Given the description of an element on the screen output the (x, y) to click on. 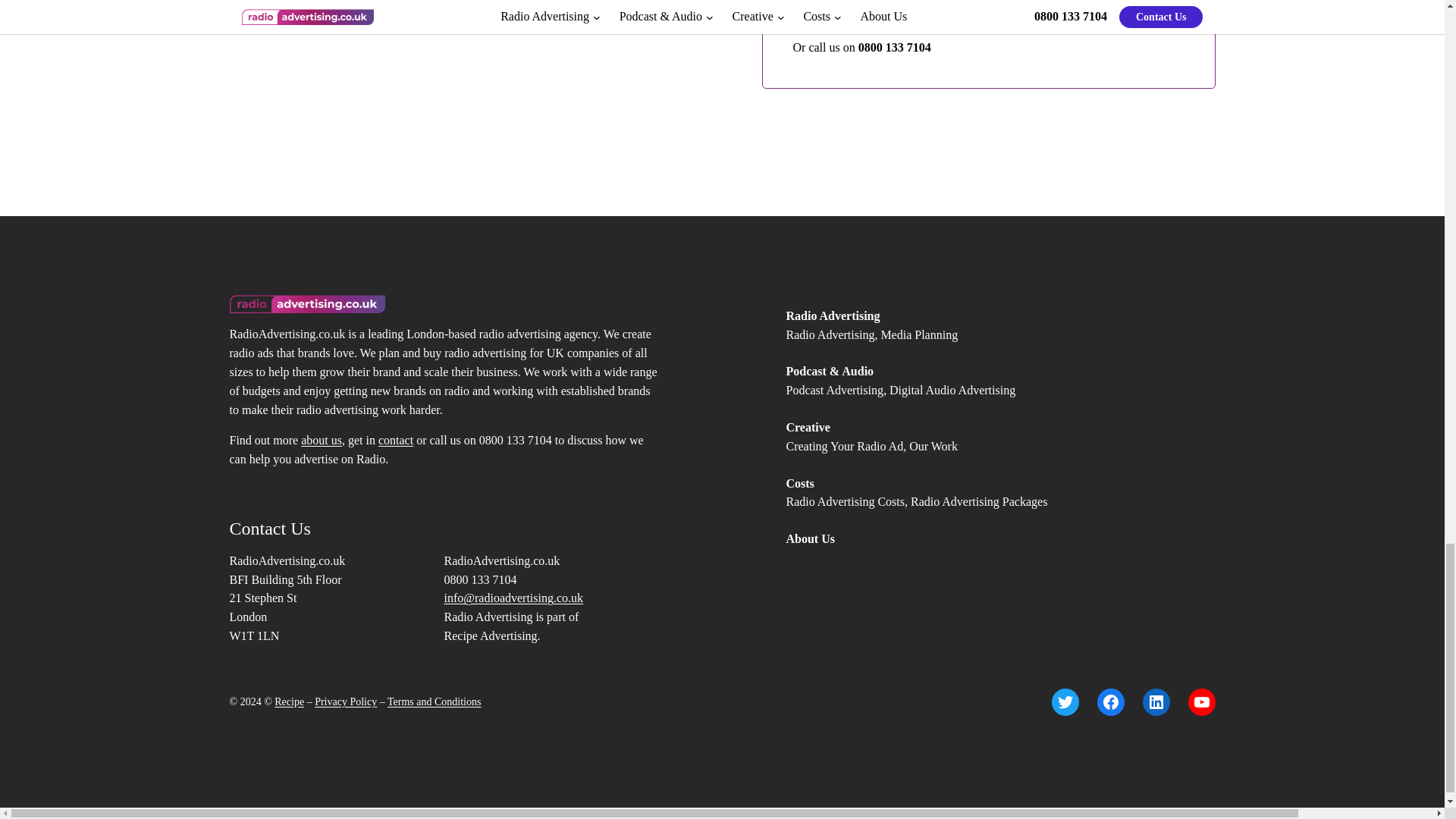
Submit (852, 11)
